Given the description of an element on the screen output the (x, y) to click on. 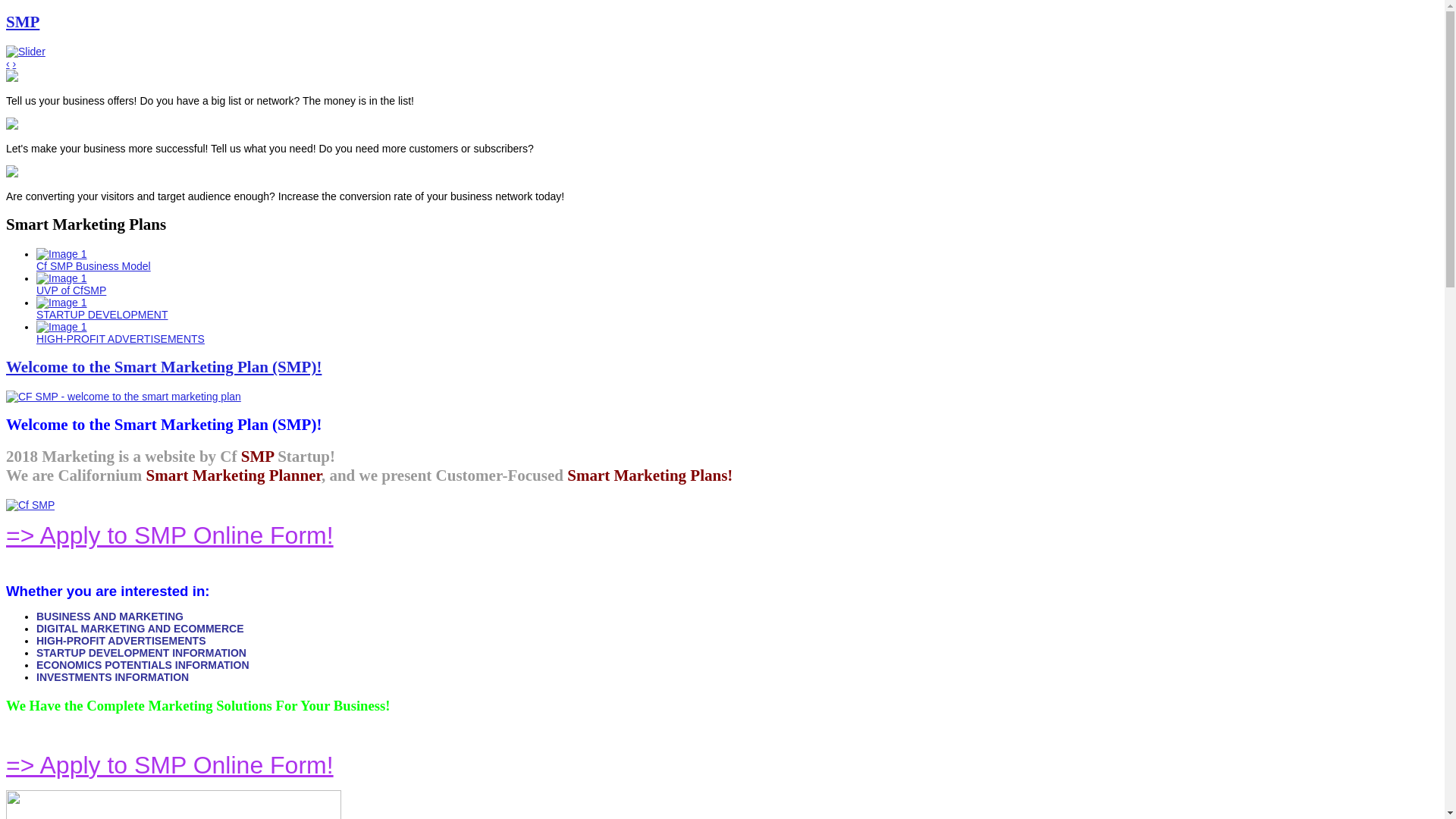
Permalink to Welcome to the Smart Marketing Plan (SMP)! Element type: hover (123, 396)
Cf SMP Business Model Element type: text (407, 259)
STARTUP DEVELOPMENT Element type: text (407, 308)
=> Apply to SMP Online Form! Element type: text (169, 535)
Welcome to the Smart Marketing Plan (SMP)! Element type: text (163, 366)
=> Apply to SMP Online Form! Element type: text (169, 764)
HIGH-PROFIT ADVERTISEMENTS Element type: text (407, 332)
UVP of CfSMP Element type: text (407, 284)
SMP Element type: text (22, 21)
